Given the description of an element on the screen output the (x, y) to click on. 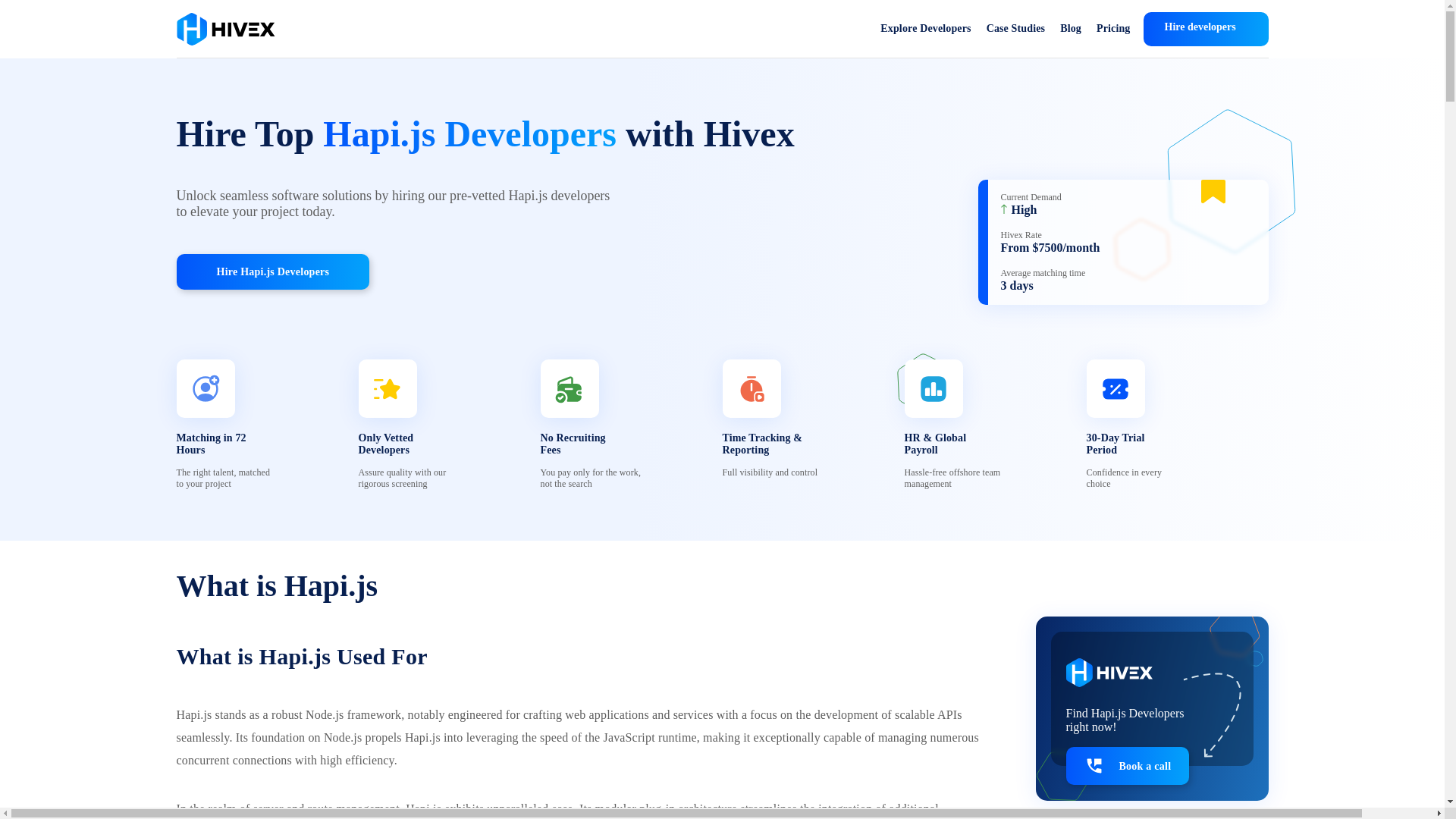
Blog (1070, 28)
Hire developers (1205, 28)
Case Studies (1016, 28)
Explore Developers (925, 28)
Book a call (1127, 765)
Pricing (1113, 28)
Hire Hapi.js Developers (272, 271)
